Given the description of an element on the screen output the (x, y) to click on. 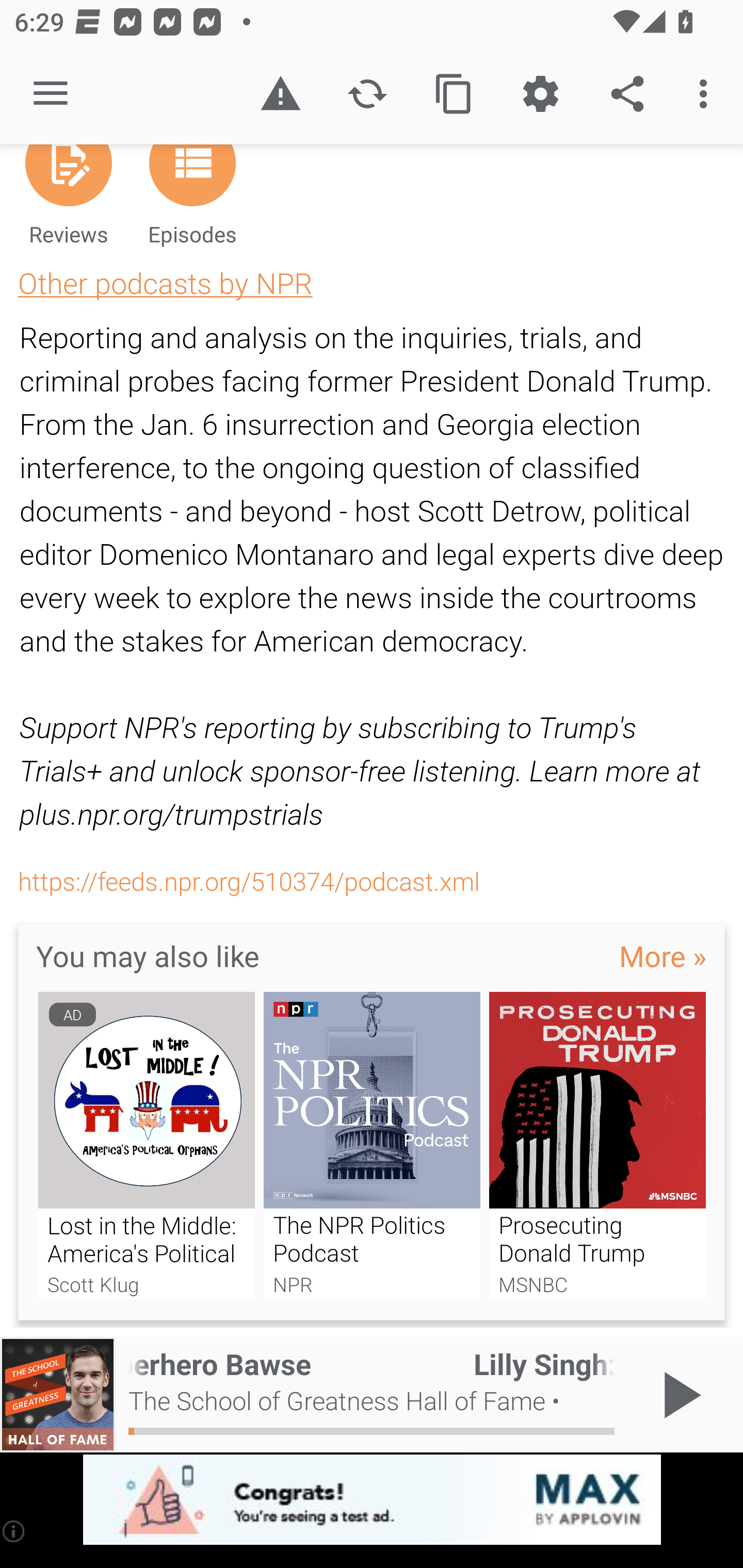
Open navigation sidebar (50, 93)
Report inappropriate content (280, 93)
Refresh podcast description (366, 93)
Copy feed url to clipboard (453, 93)
Custom Settings (540, 93)
Share the podcast (626, 93)
More options (706, 93)
Reviews (68, 203)
Episodes (192, 203)
Other podcasts by NPR (164, 282)
More » (662, 955)
The NPR Politics Podcast NPR (371, 1145)
Prosecuting Donald Trump MSNBC (596, 1145)
Play / Pause (677, 1394)
app-monetization (371, 1500)
(i) (14, 1531)
